Given the description of an element on the screen output the (x, y) to click on. 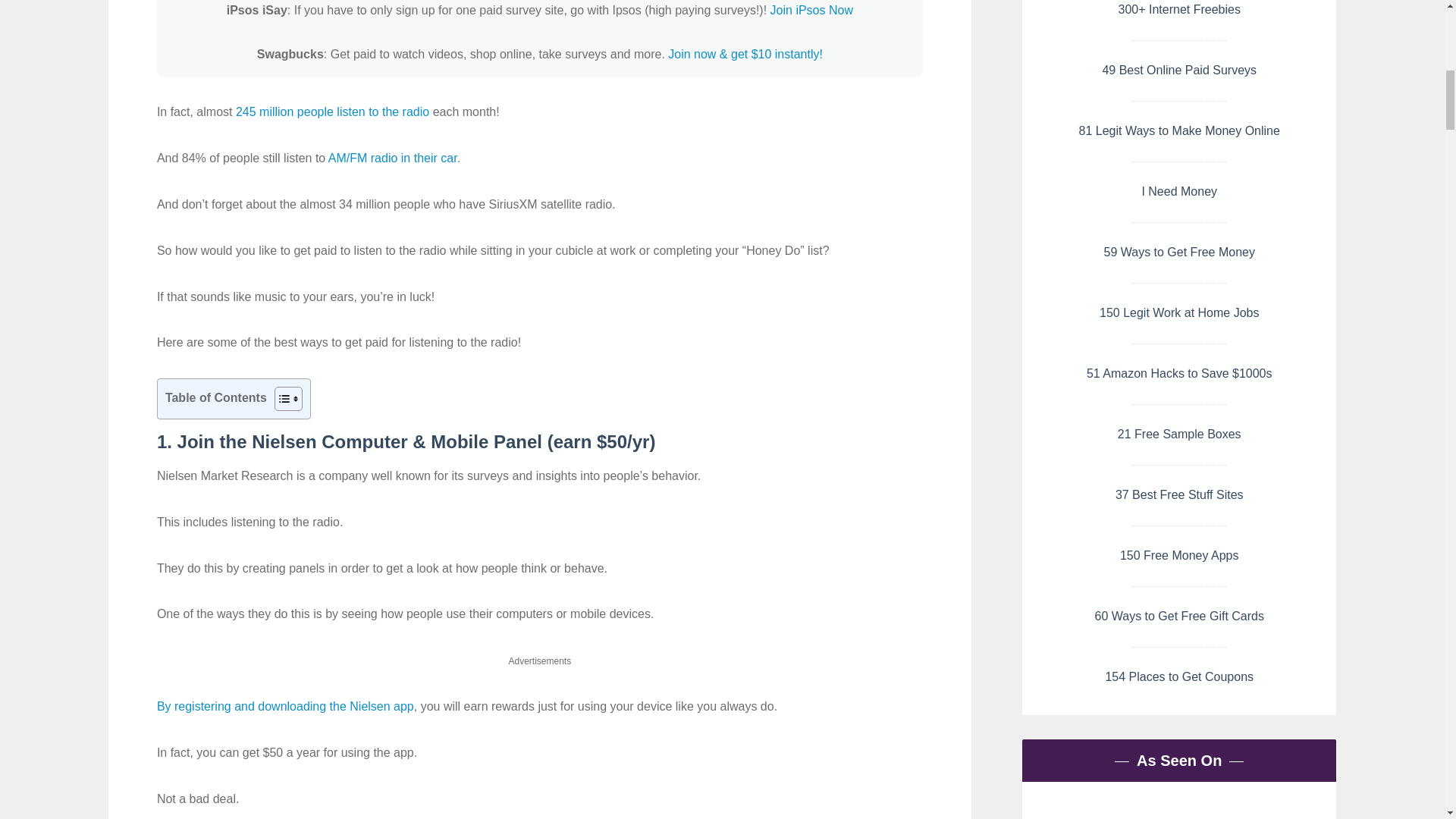
By registering and downloading the Nielsen app (285, 706)
245 million people listen to the radio (332, 111)
Join iPsos Now (811, 10)
